Given the description of an element on the screen output the (x, y) to click on. 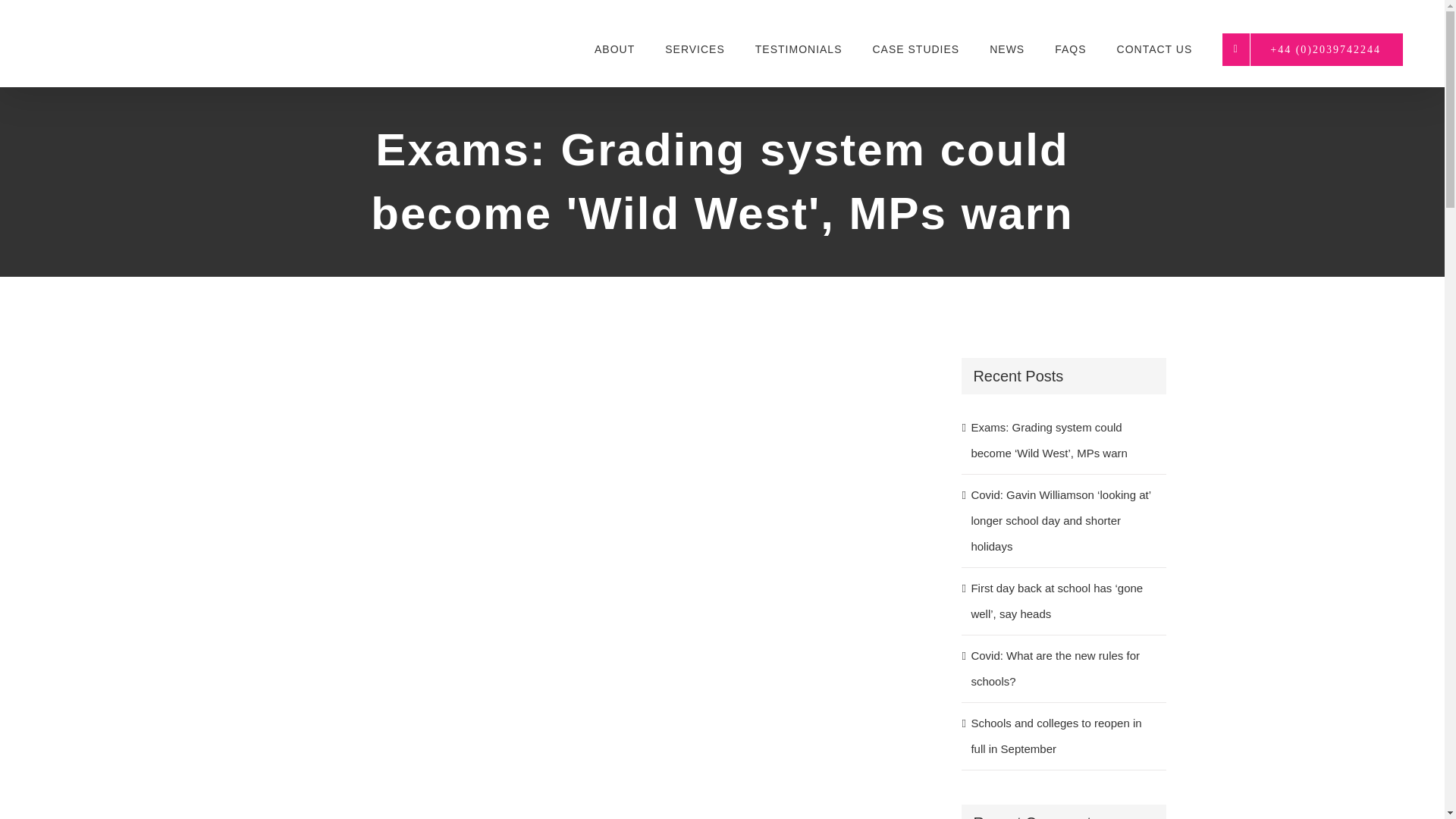
CASE STUDIES (915, 48)
CONTACT US (1154, 48)
Covid: What are the new rules for schools? (1055, 668)
TESTIMONIALS (799, 48)
